Given the description of an element on the screen output the (x, y) to click on. 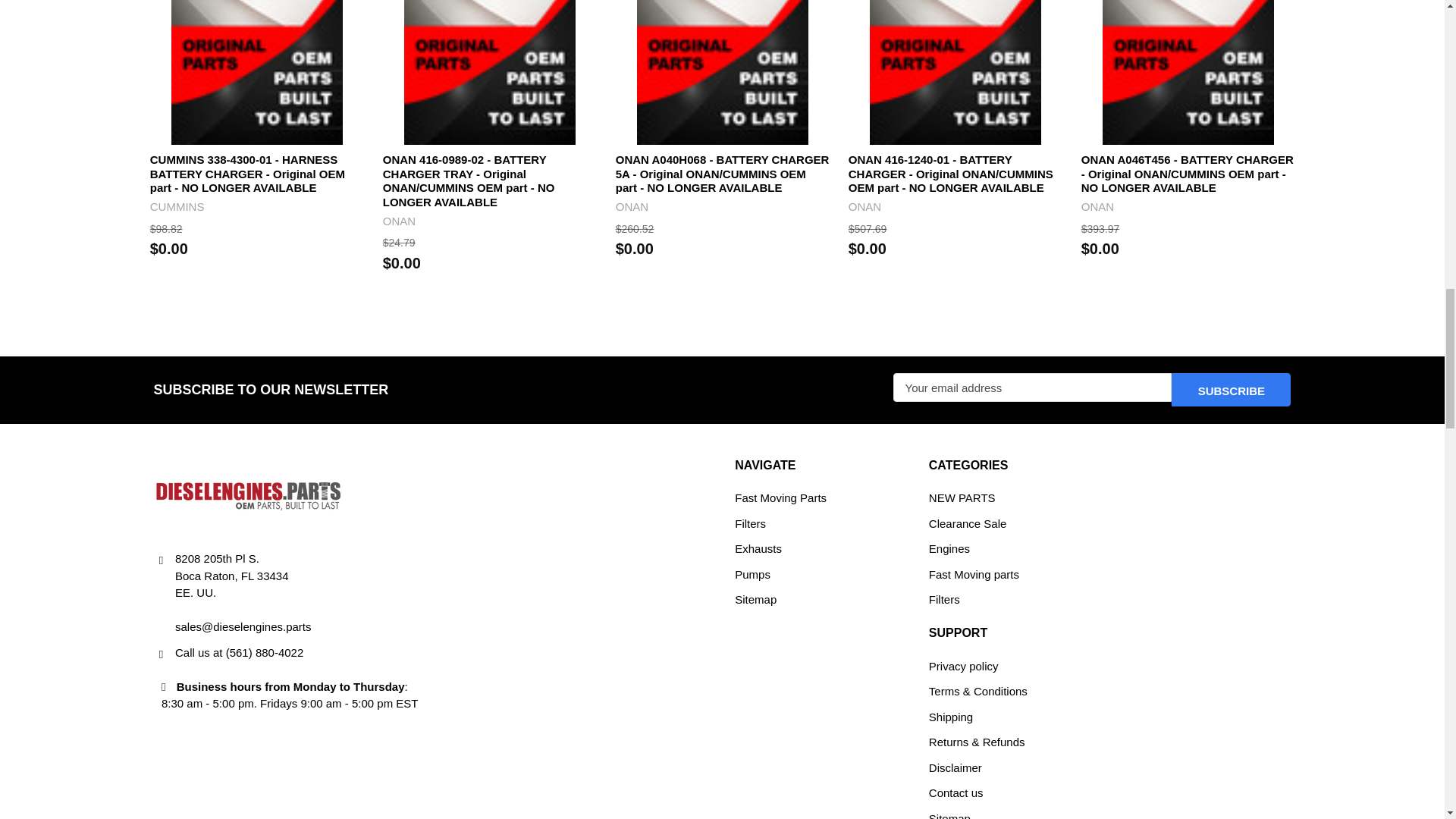
Subscribe (1231, 389)
DIESELENGINES PARTS (247, 495)
